Given the description of an element on the screen output the (x, y) to click on. 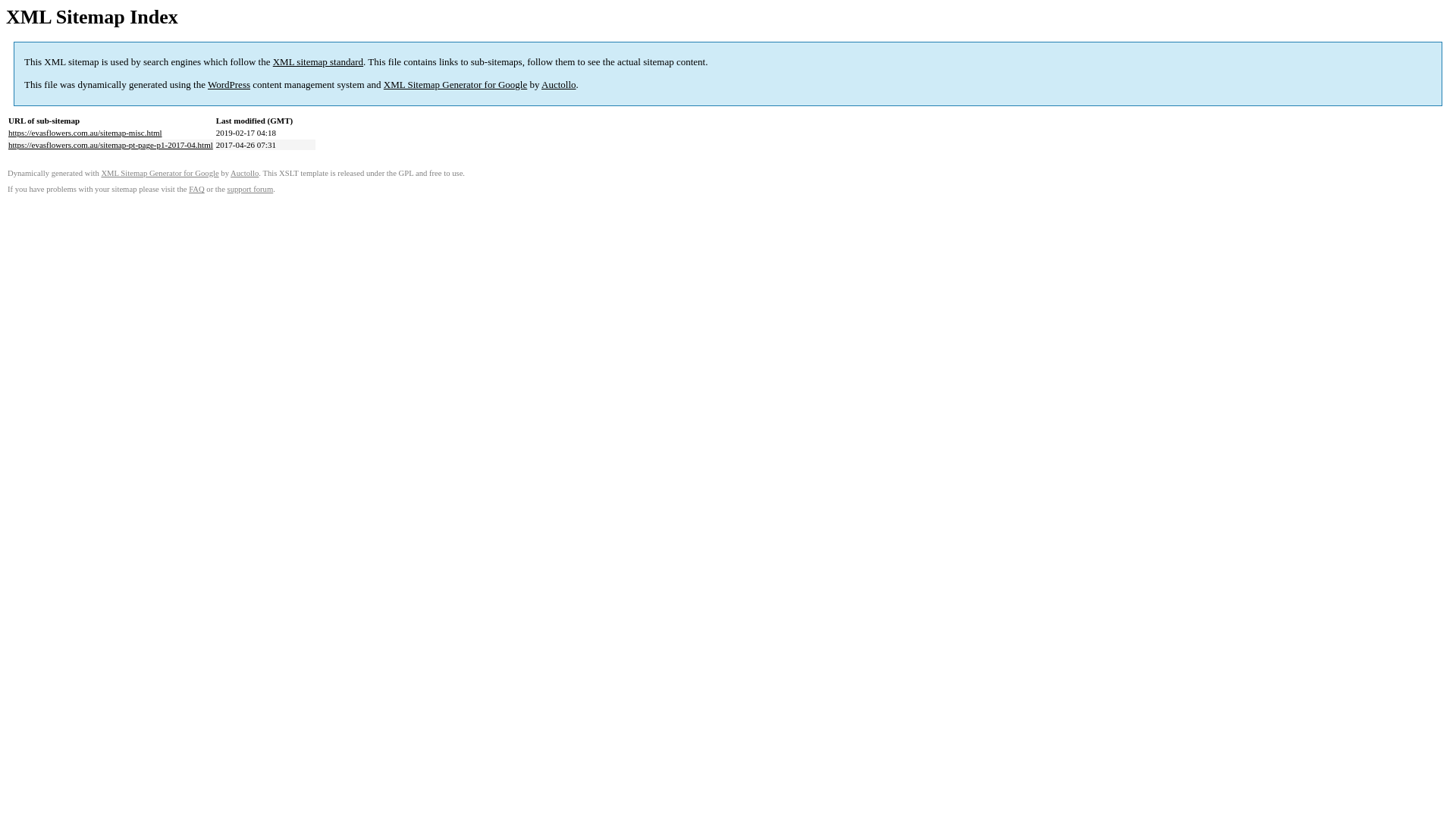
Auctollo Element type: text (244, 173)
https://evasflowers.com.au/sitemap-misc.html Element type: text (85, 132)
support forum Element type: text (250, 189)
XML Sitemap Generator for Google Element type: text (159, 173)
Auctollo Element type: text (558, 84)
https://evasflowers.com.au/sitemap-pt-page-p1-2017-04.html Element type: text (110, 144)
WordPress Element type: text (228, 84)
XML Sitemap Generator for Google Element type: text (455, 84)
FAQ Element type: text (196, 189)
XML sitemap standard Element type: text (318, 61)
